Given the description of an element on the screen output the (x, y) to click on. 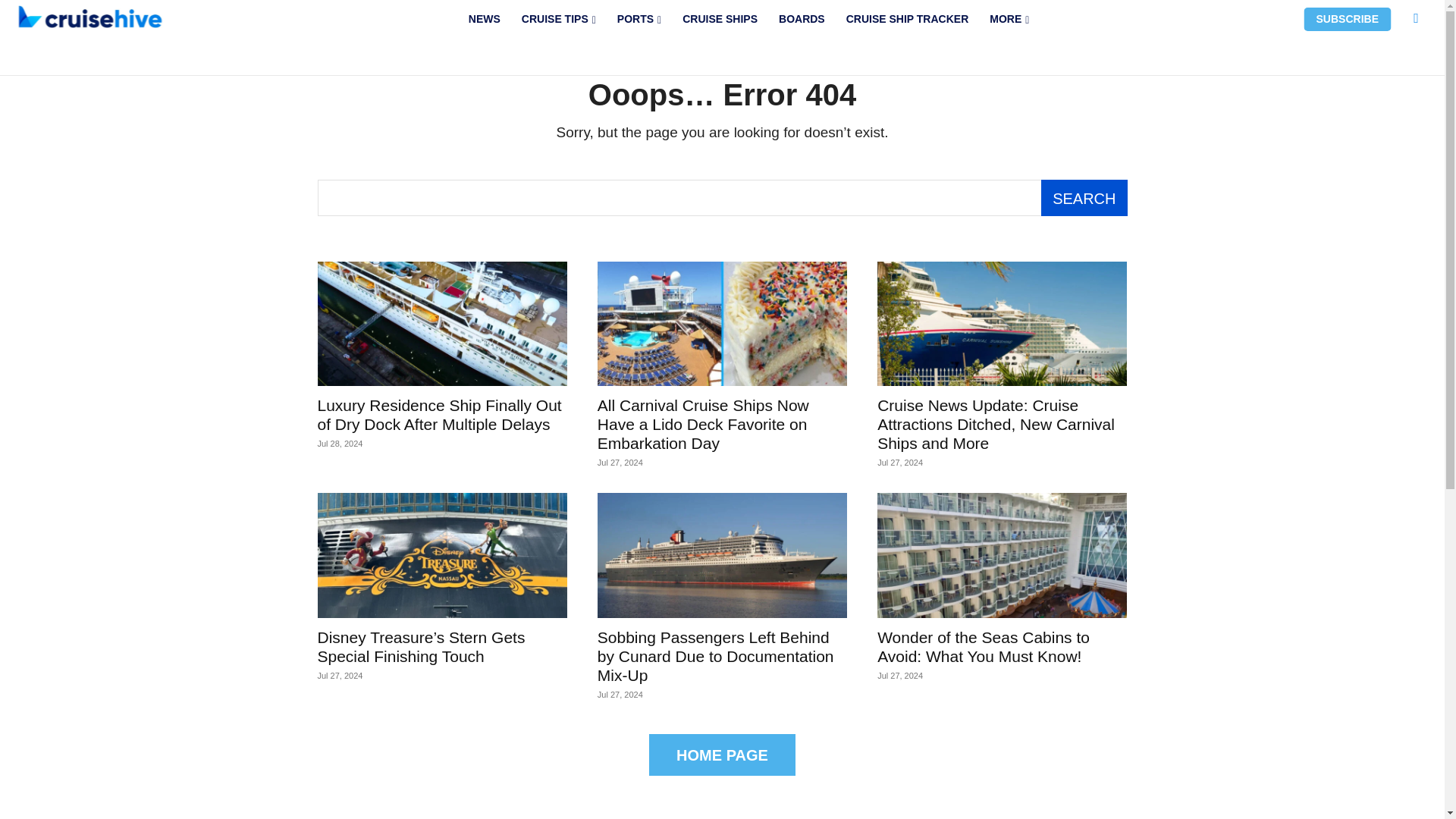
NEWS (484, 19)
Wonder of the Seas Cabins to Avoid: What You Must Know! (983, 646)
Wonder of the Seas Cabins to Avoid: What You Must Know! (1001, 555)
SUBSCRIBE (1347, 19)
CRUISE TIPS (559, 19)
PORTS (639, 19)
